Given the description of an element on the screen output the (x, y) to click on. 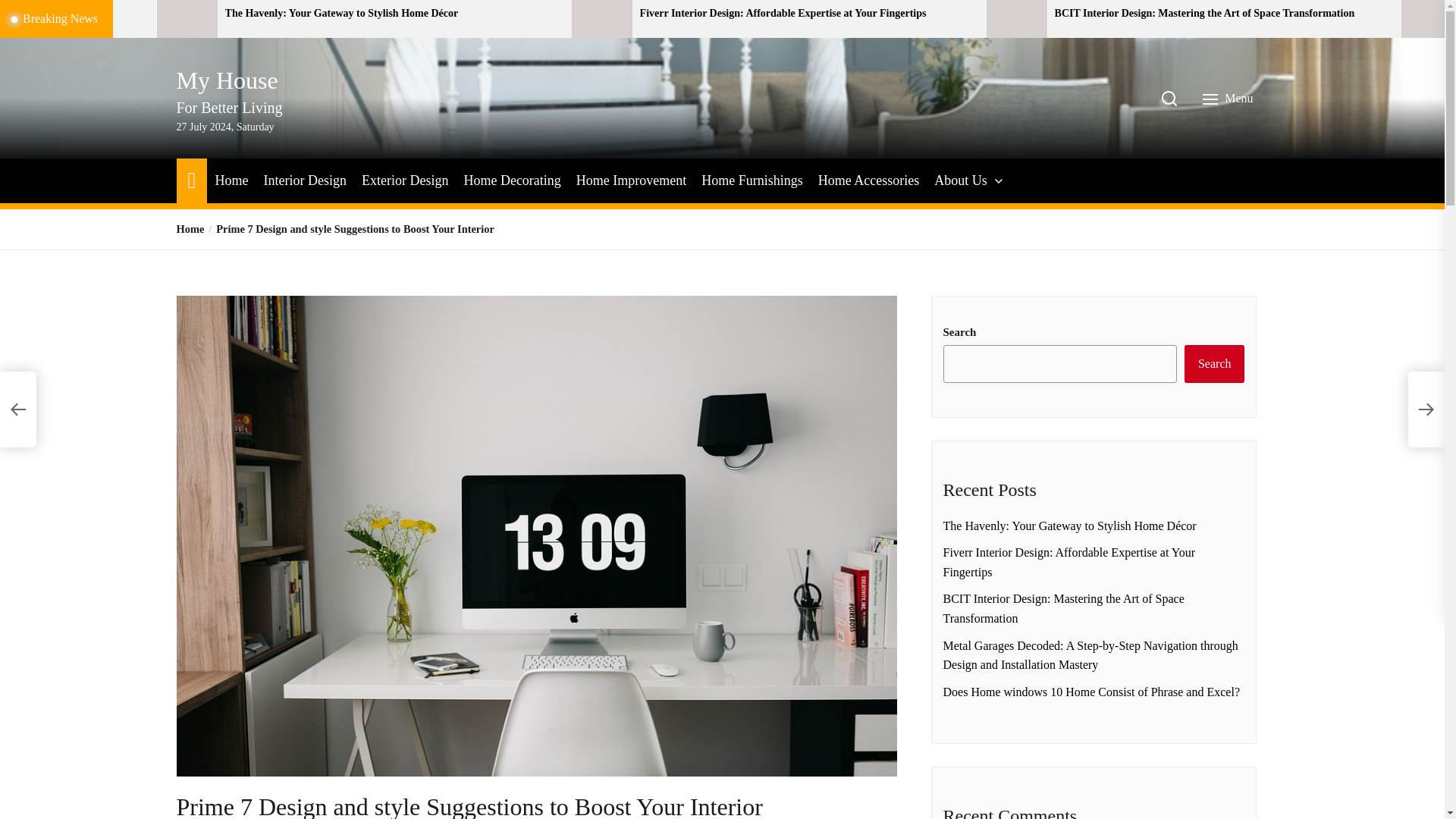
Home (191, 178)
